Given the description of an element on the screen output the (x, y) to click on. 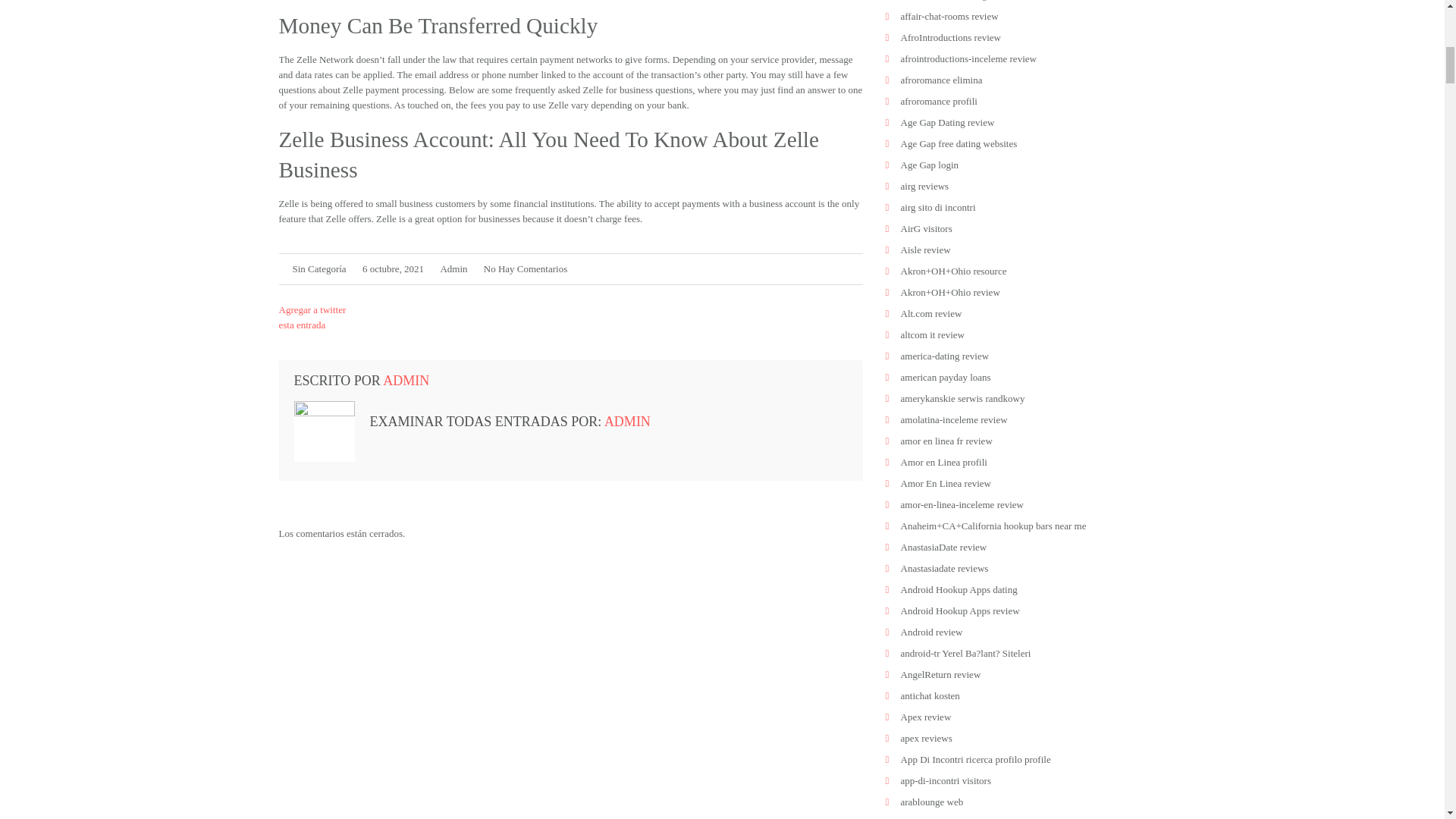
Admin (453, 267)
ADMIN (627, 421)
Entradas de admin (627, 421)
Agregar a twitter esta entrada (312, 316)
No Hay Comentarios (525, 267)
Entradas de admin (453, 267)
Entradas de admin (405, 380)
ADMIN (405, 380)
